Given the description of an element on the screen output the (x, y) to click on. 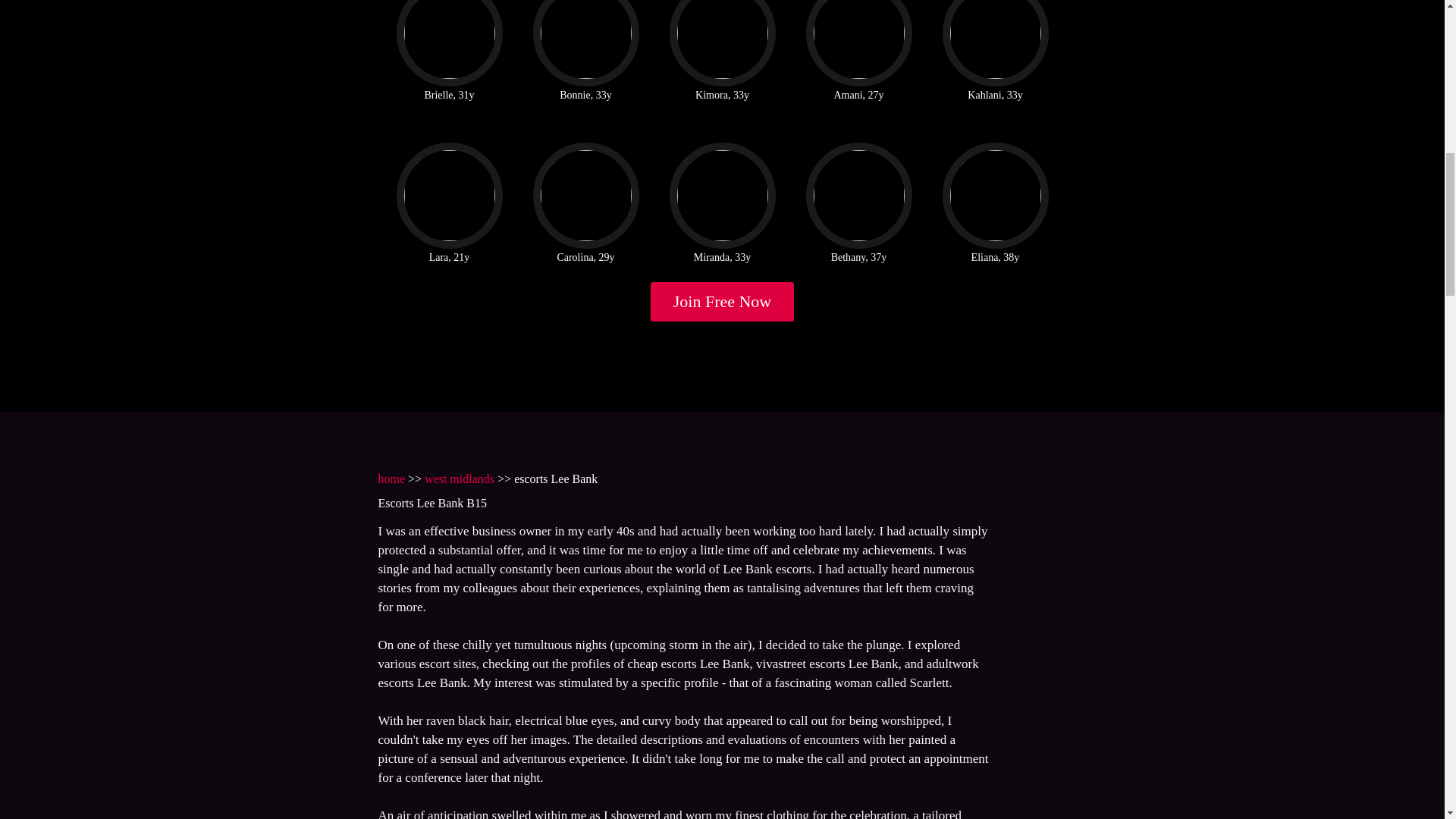
Join Free Now (722, 301)
west midlands (460, 478)
home (390, 478)
Join (722, 301)
